Given the description of an element on the screen output the (x, y) to click on. 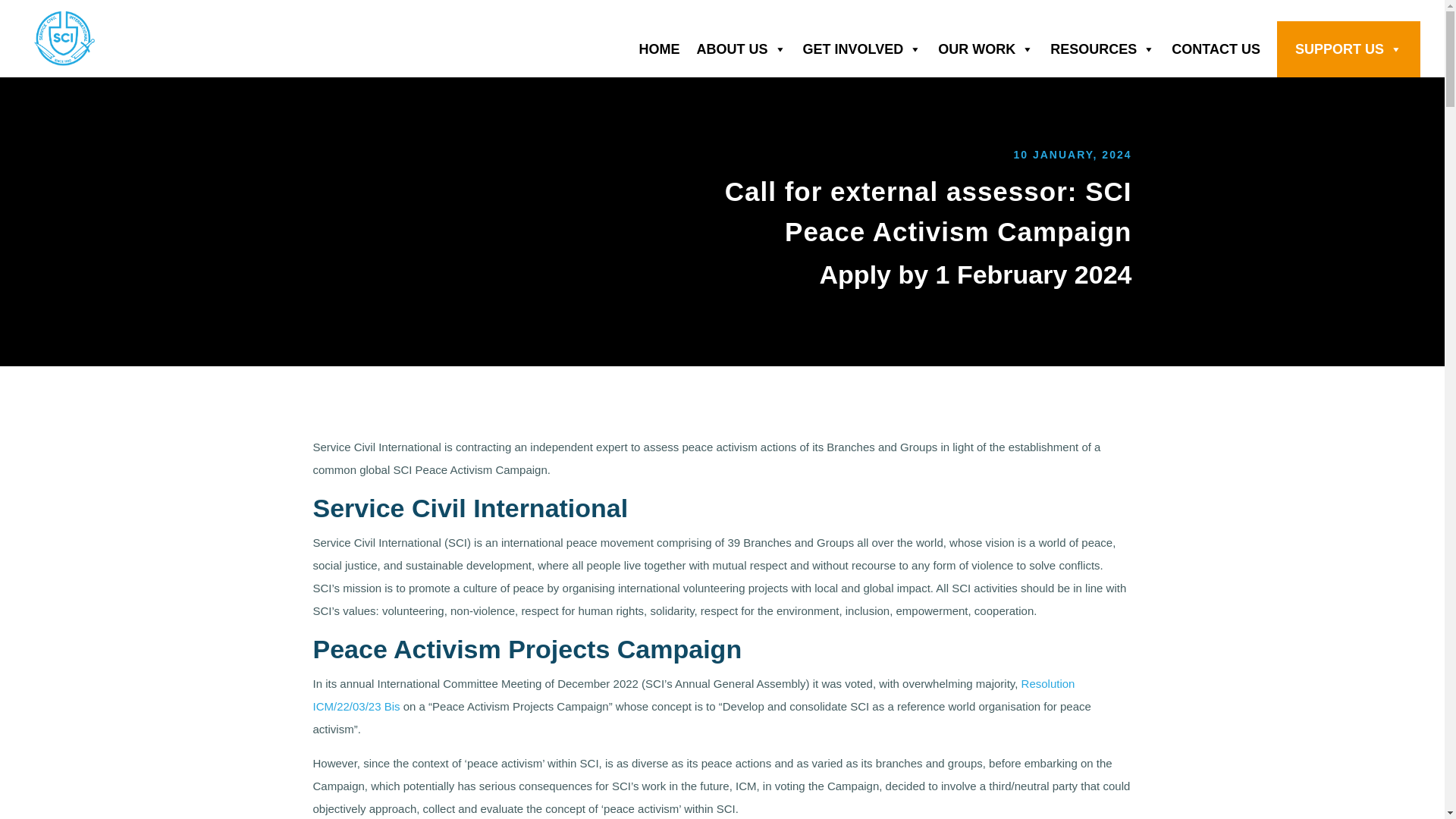
HOME (668, 49)
SUPPORT US (1356, 49)
CONTACT US (1224, 49)
ABOUT US (750, 49)
RESOURCES (1110, 49)
OUR WORK (993, 49)
GET INVOLVED (871, 49)
